Given the description of an element on the screen output the (x, y) to click on. 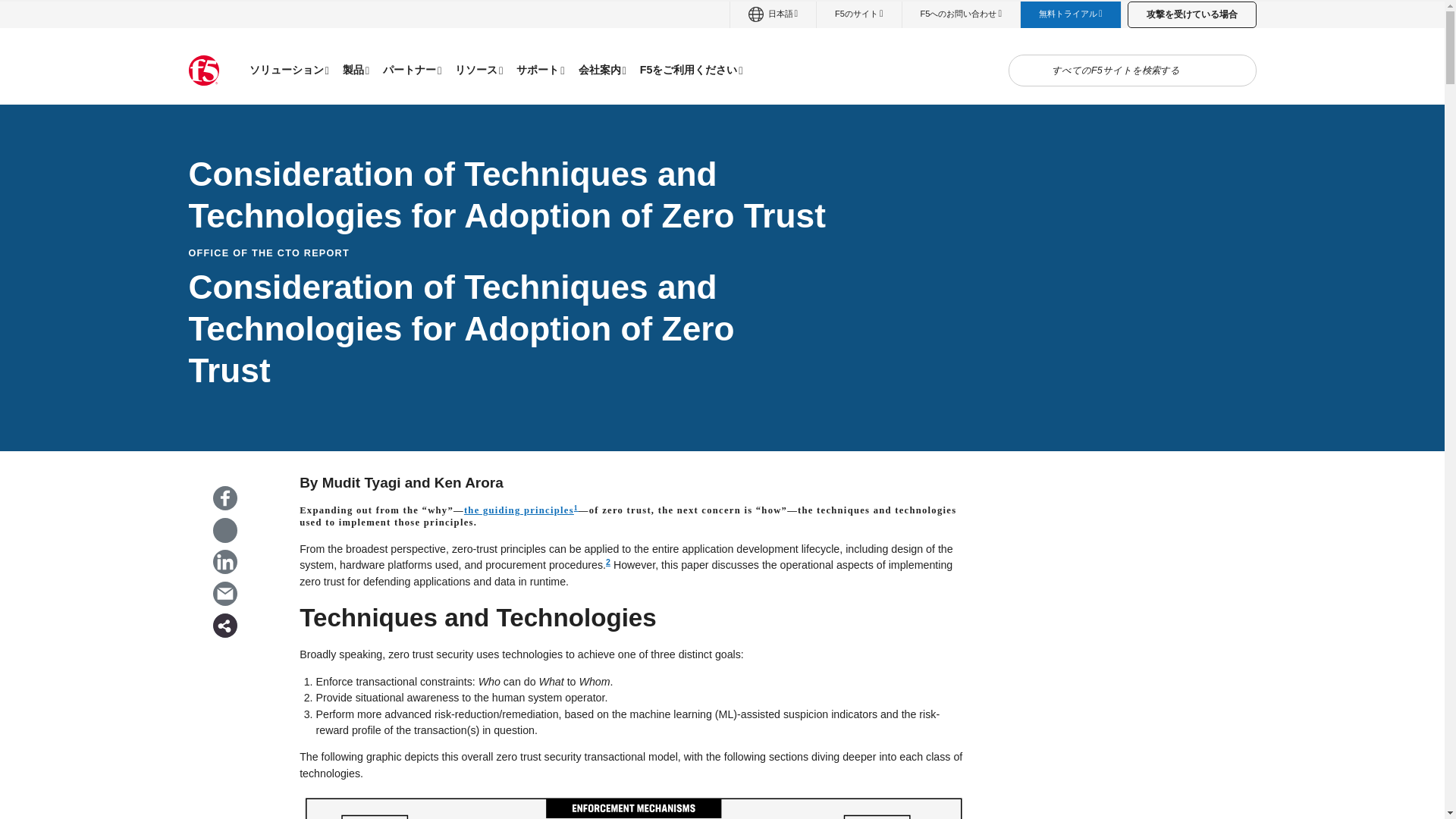
F5 (202, 70)
the guiding principles (518, 510)
